Given the description of an element on the screen output the (x, y) to click on. 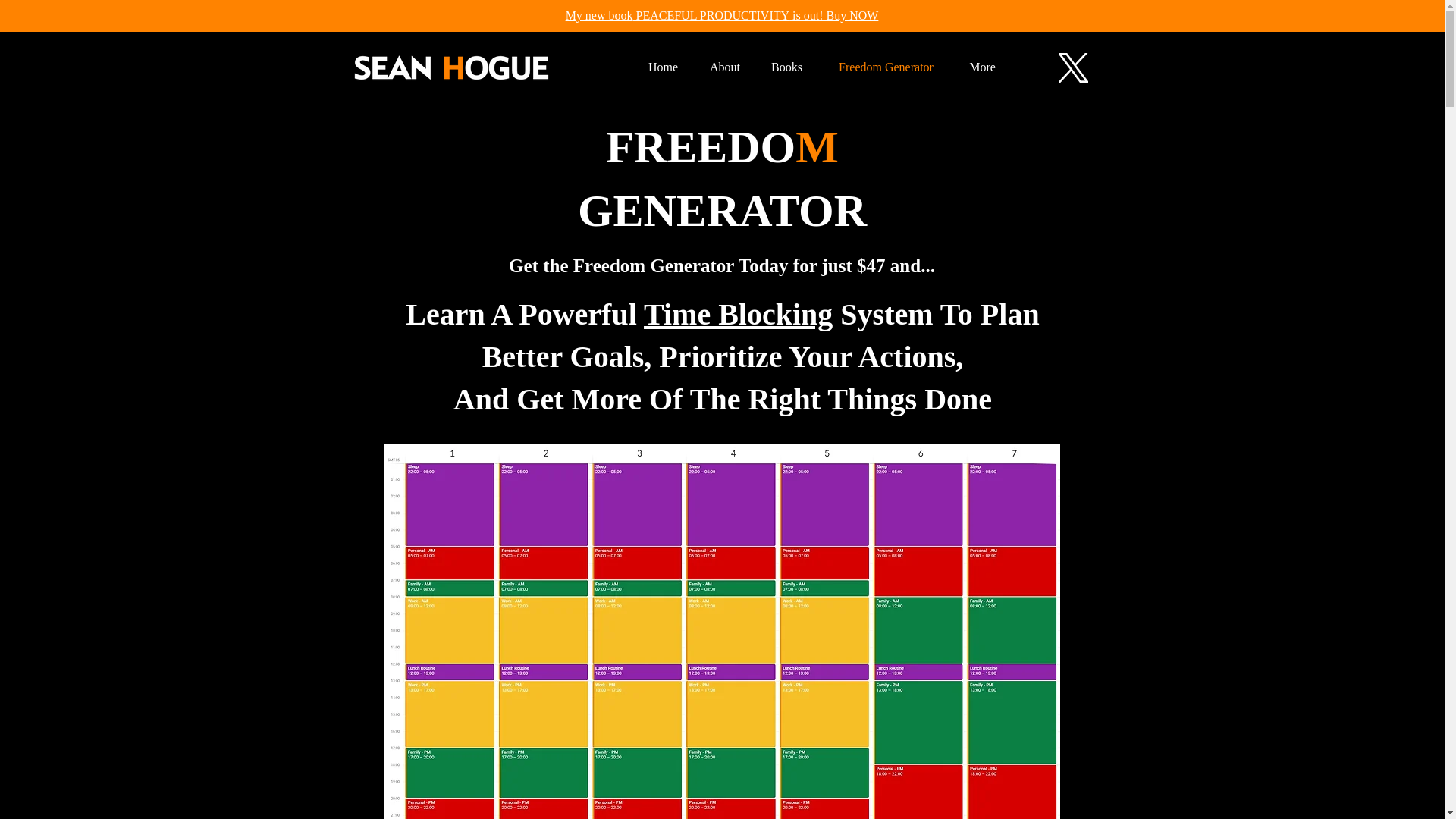
My new book PEACEFUL PRODUCTIVITY is out! Buy NOW (722, 15)
Books (785, 67)
About (724, 67)
Home (662, 67)
Freedom Generator (884, 67)
